Given the description of an element on the screen output the (x, y) to click on. 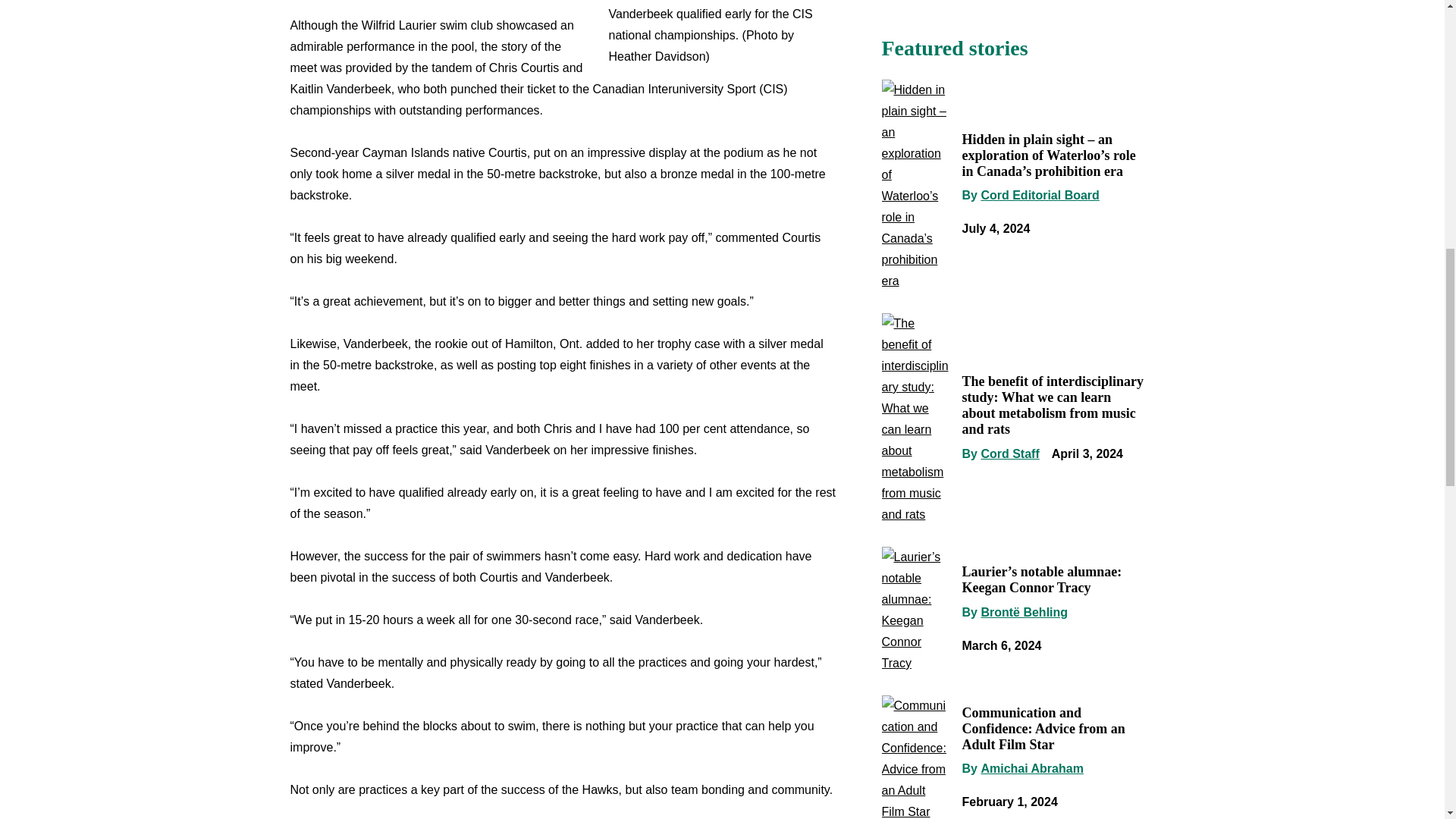
Posts by Amichai Abraham (1031, 768)
Posts by Cord Staff (1009, 453)
Posts by Cord Editorial Board (1039, 195)
